Given the description of an element on the screen output the (x, y) to click on. 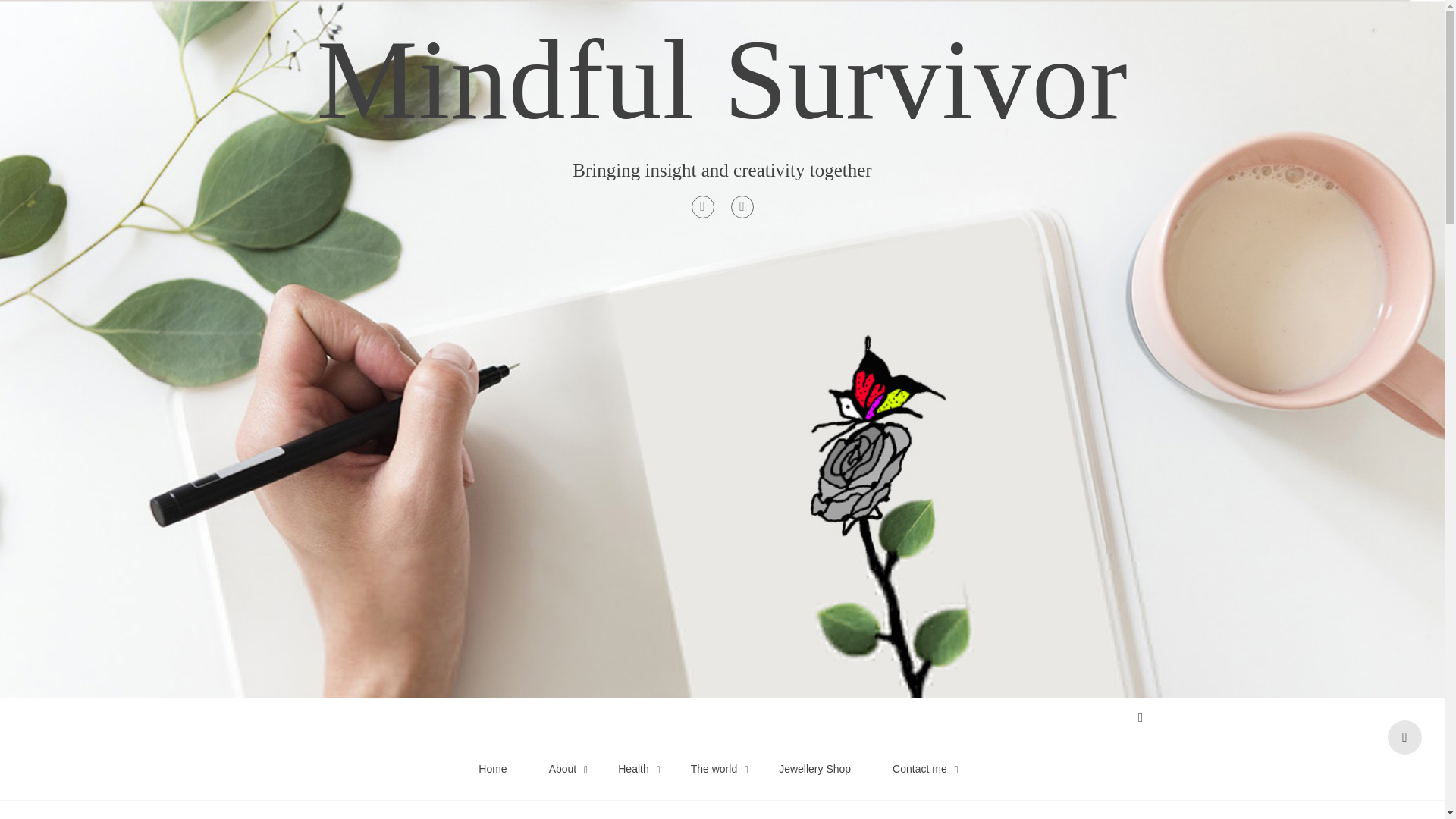
The world (713, 769)
Mindful Survivor (720, 79)
Jewellery Shop (814, 769)
Contact me (919, 769)
The world (713, 769)
Contact me (919, 769)
Jewellery Shop (814, 769)
